Given the description of an element on the screen output the (x, y) to click on. 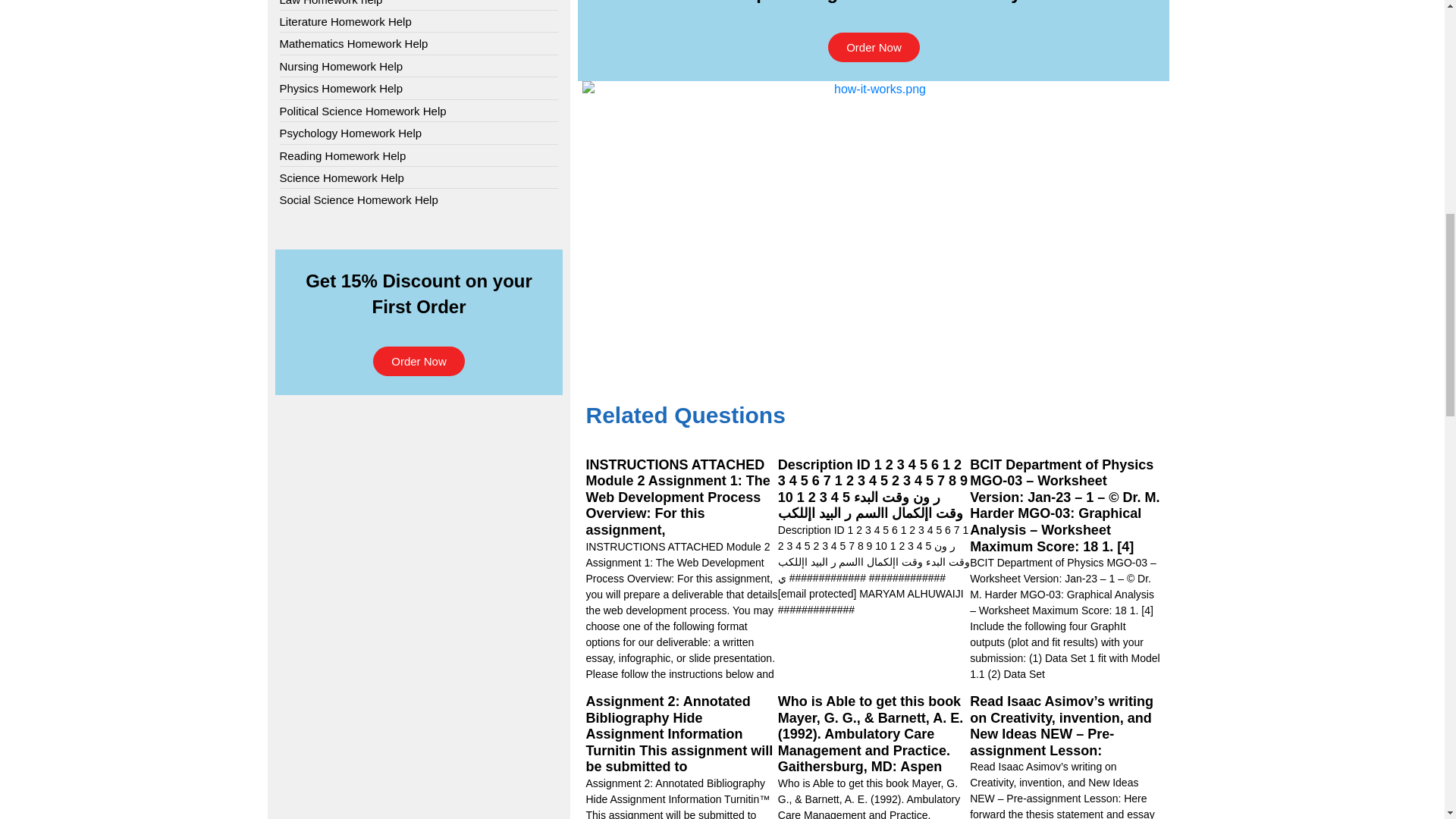
Nursing Homework Help (341, 66)
Mathematics Homework Help (353, 43)
Literature Homework Help (344, 21)
Law Homework help (330, 3)
Physics Homework Help (341, 88)
